Given the description of an element on the screen output the (x, y) to click on. 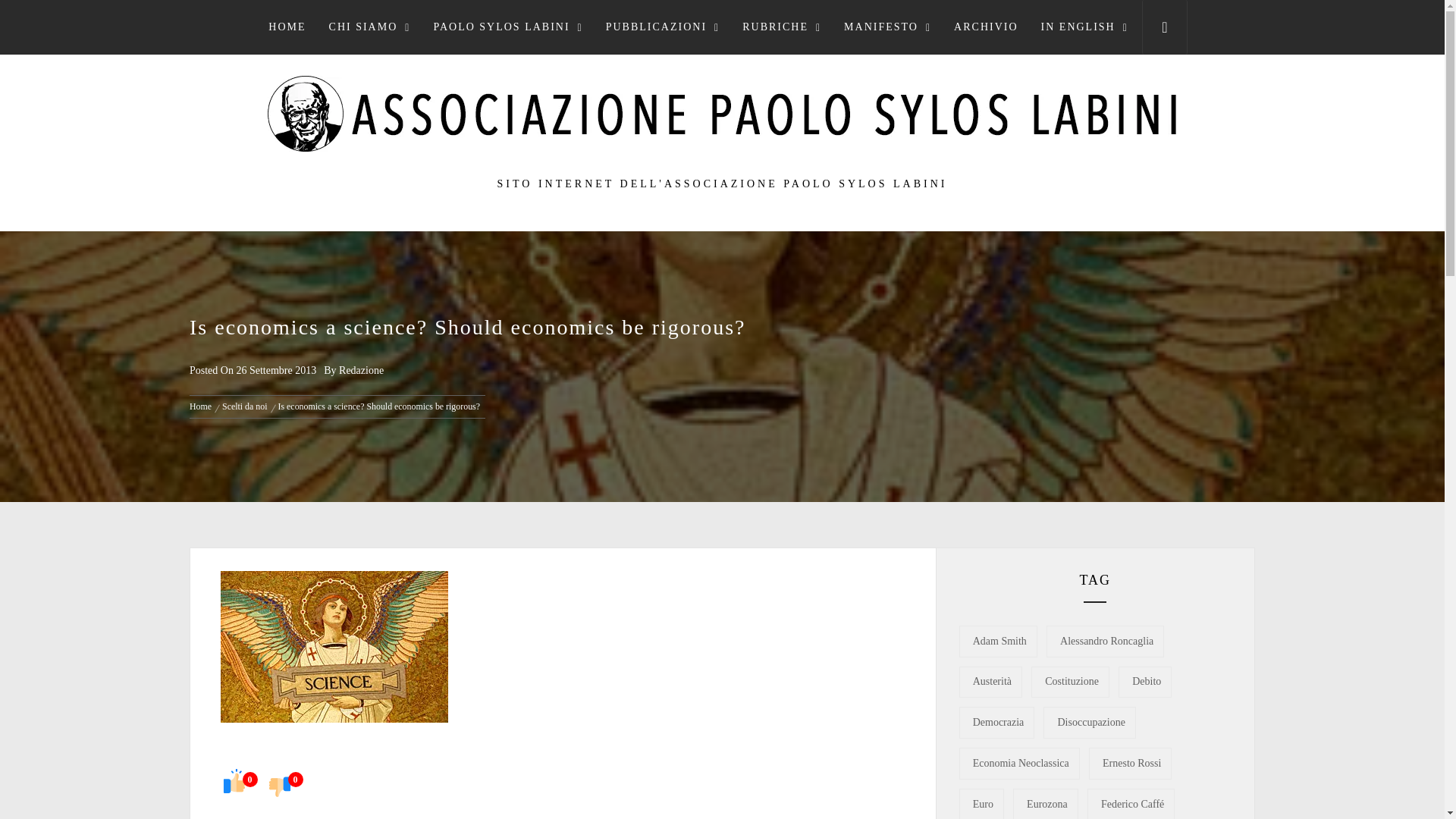
HOME (287, 27)
PUBBLICAZIONI (662, 27)
MANIFESTO (887, 27)
CHI SIAMO (369, 27)
PAOLO SYLOS LABINI (508, 27)
RUBRICHE (781, 27)
